Given the description of an element on the screen output the (x, y) to click on. 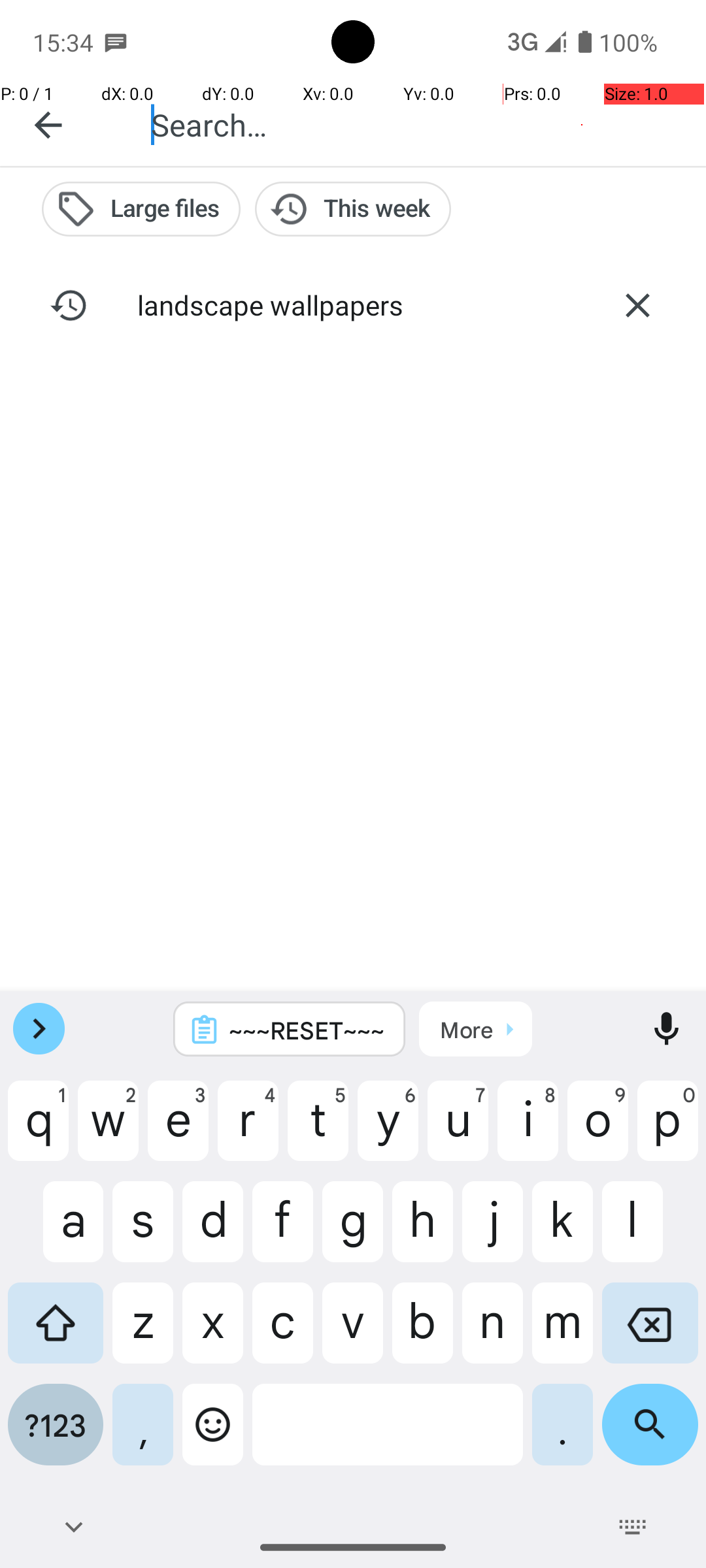
landscape wallpapers Element type: android.widget.TextView (352, 304)
Delete search history landscape wallpapers Element type: android.widget.ImageView (637, 304)
~~~RESET~~~ Element type: android.widget.TextView (306, 1029)
